Given the description of an element on the screen output the (x, y) to click on. 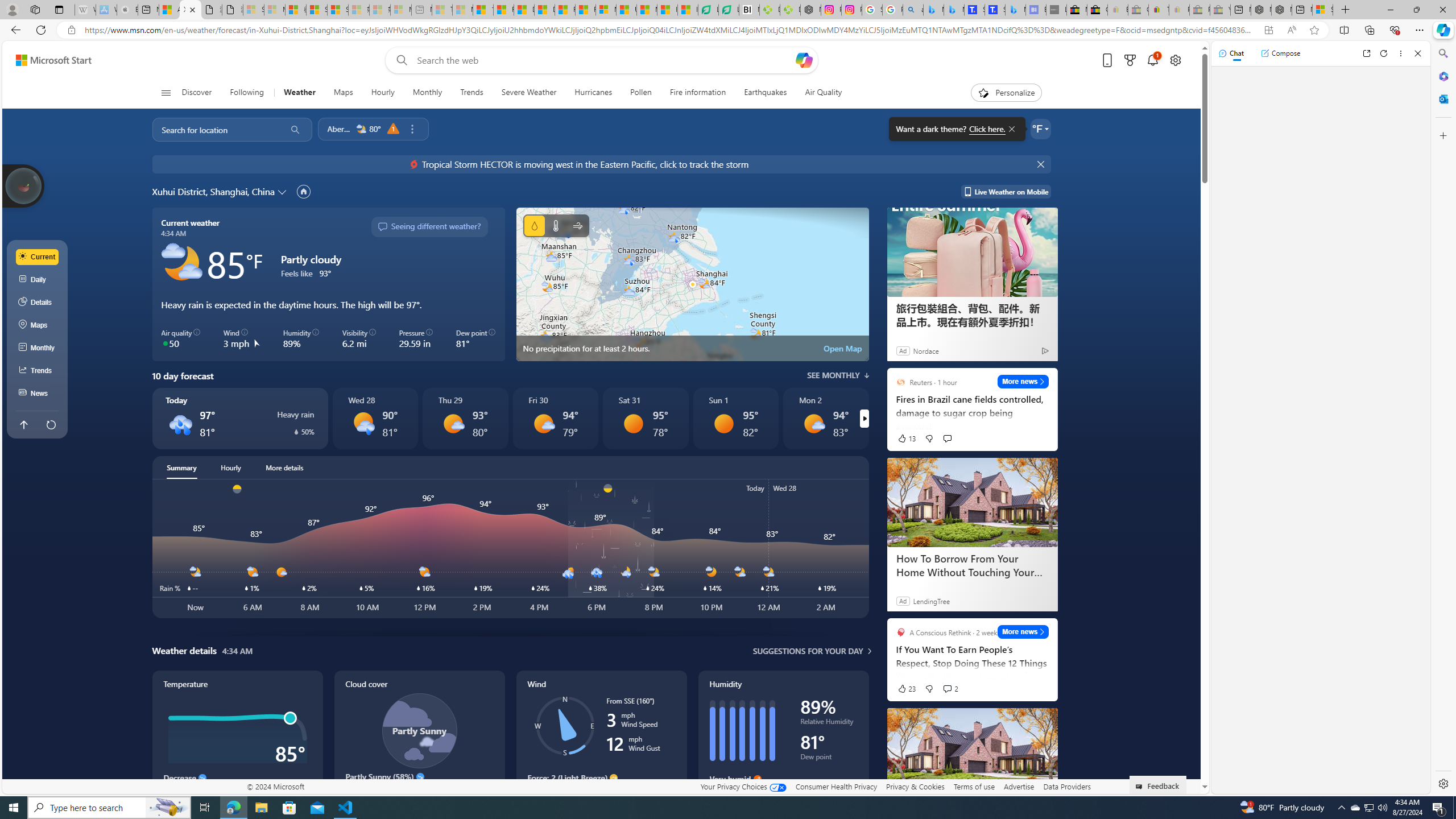
Class: cloudCoverSvg-DS-ps0R9q (419, 730)
Weather (298, 92)
Wind (577, 225)
Shangri-La Bangkok, Hotel reviews and Room rates (994, 9)
Nordace - Nordace Edin Collection (809, 9)
Air quality 50 (180, 338)
Remove location (411, 128)
Web search (398, 60)
